Given the description of an element on the screen output the (x, y) to click on. 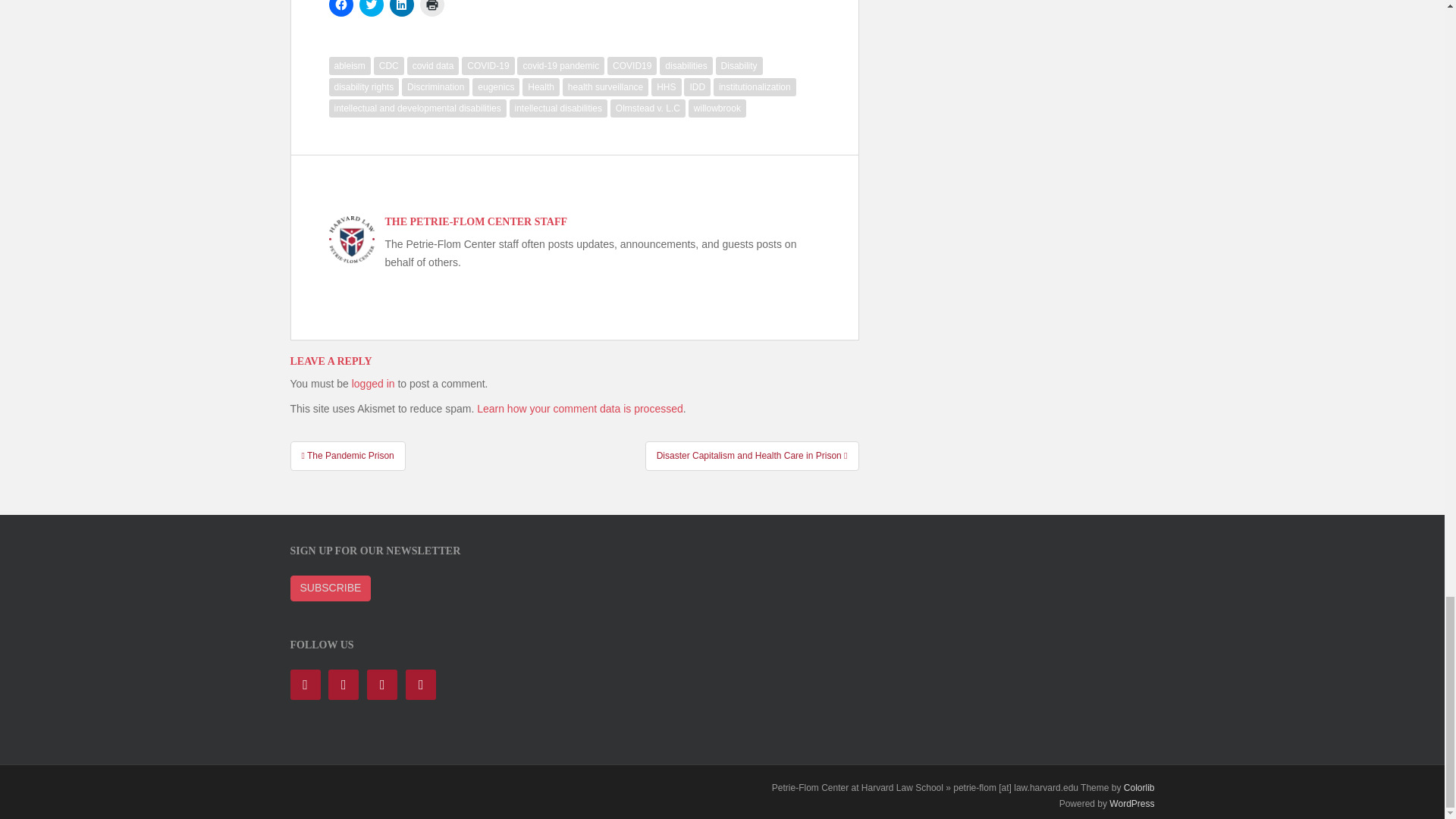
Click to share on LinkedIn (401, 8)
Click to share on Twitter (371, 8)
Click to print (432, 8)
Click to share on Facebook (341, 8)
